Given the description of an element on the screen output the (x, y) to click on. 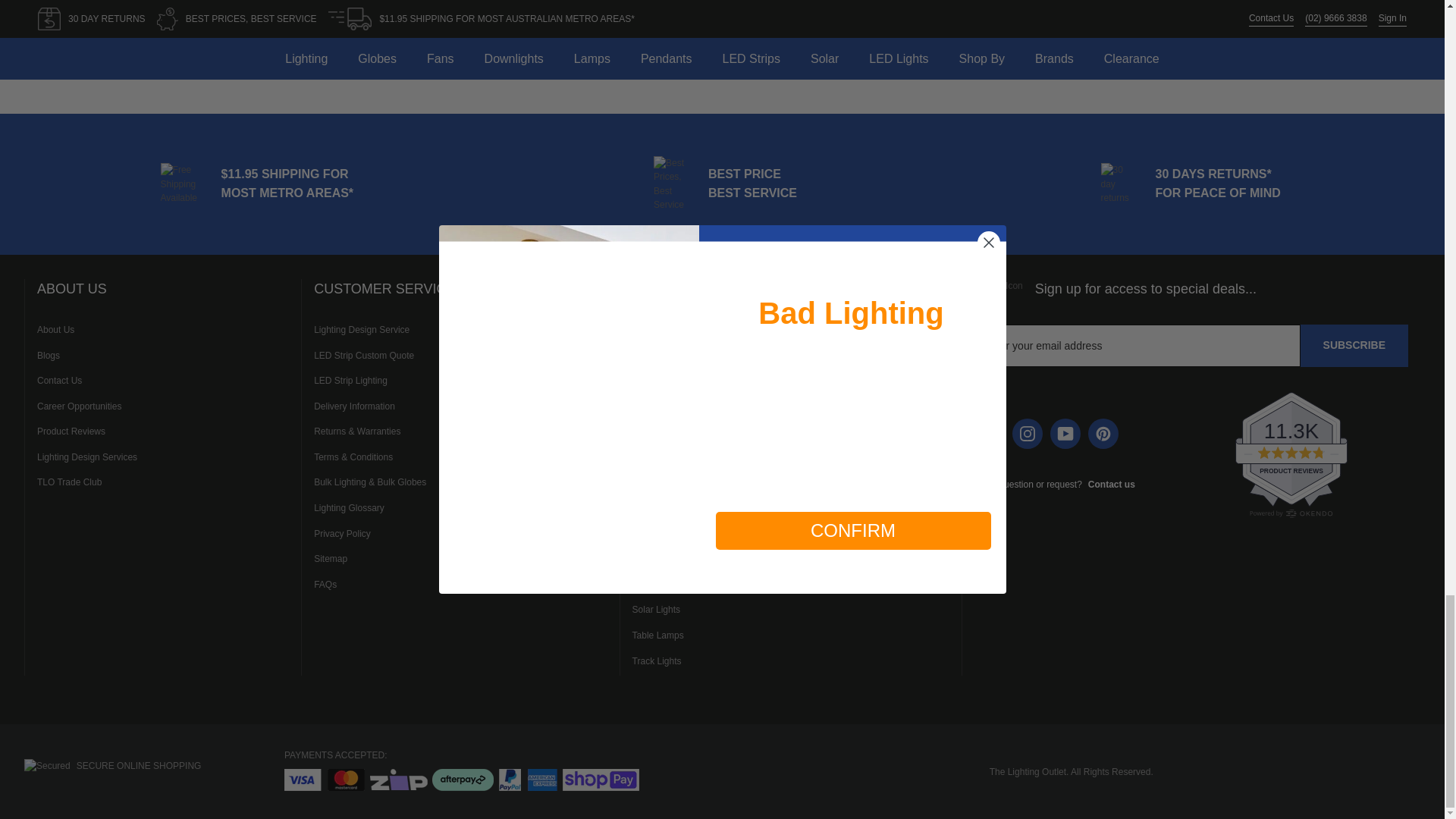
Facebook (989, 433)
Pinterest (1102, 433)
Youtube (1064, 433)
Subscribe (1353, 345)
Instagram (1026, 433)
Subscribe (1353, 345)
